Given the description of an element on the screen output the (x, y) to click on. 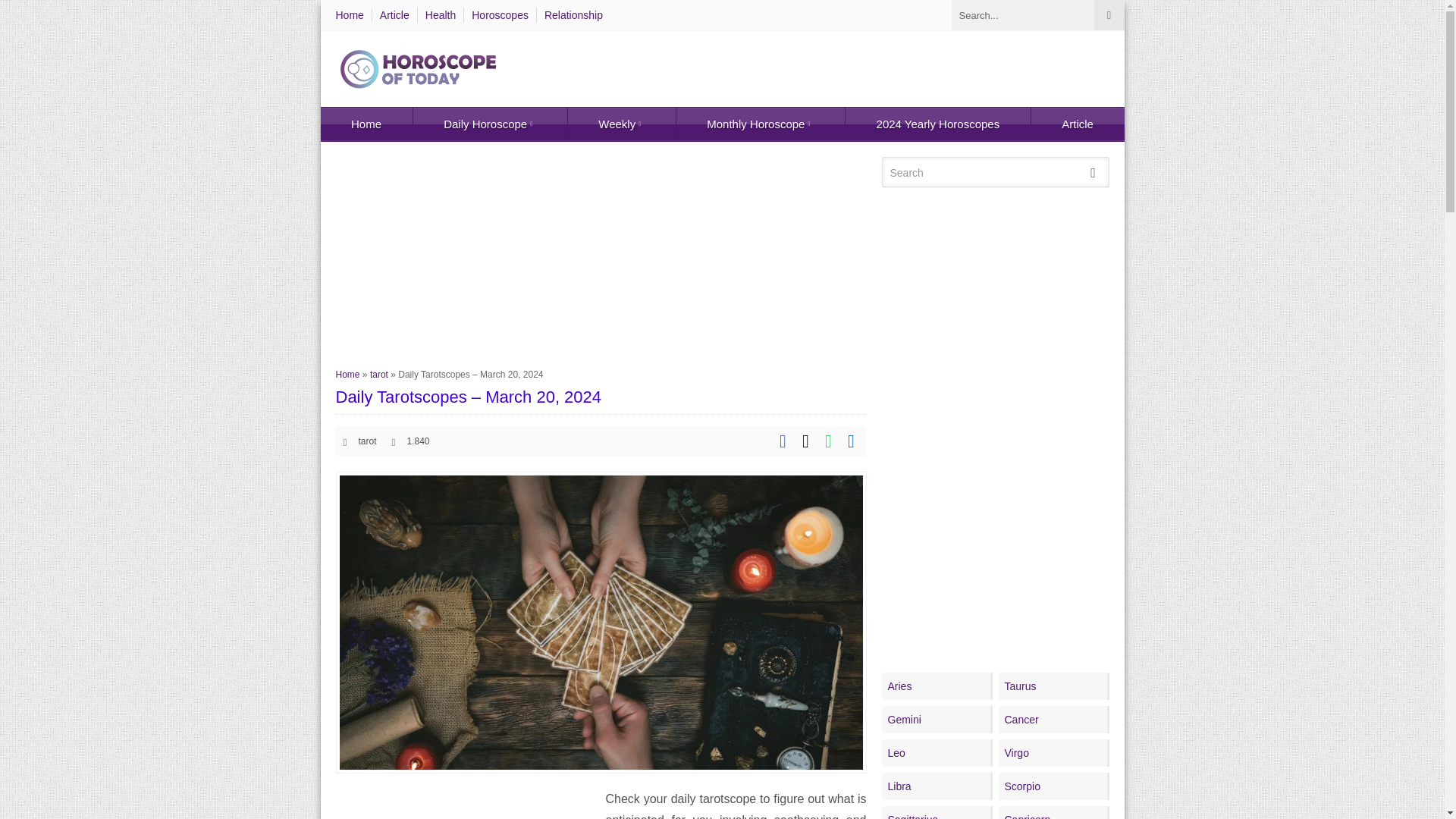
HoroscopeOfToday (418, 68)
Advertisement (461, 803)
Horoscopes (499, 14)
Article (394, 14)
Share on Twitter (805, 441)
Share on Facebook (783, 441)
Relationship (573, 14)
tarot (378, 374)
Home (346, 374)
Weekly (621, 123)
